Given the description of an element on the screen output the (x, y) to click on. 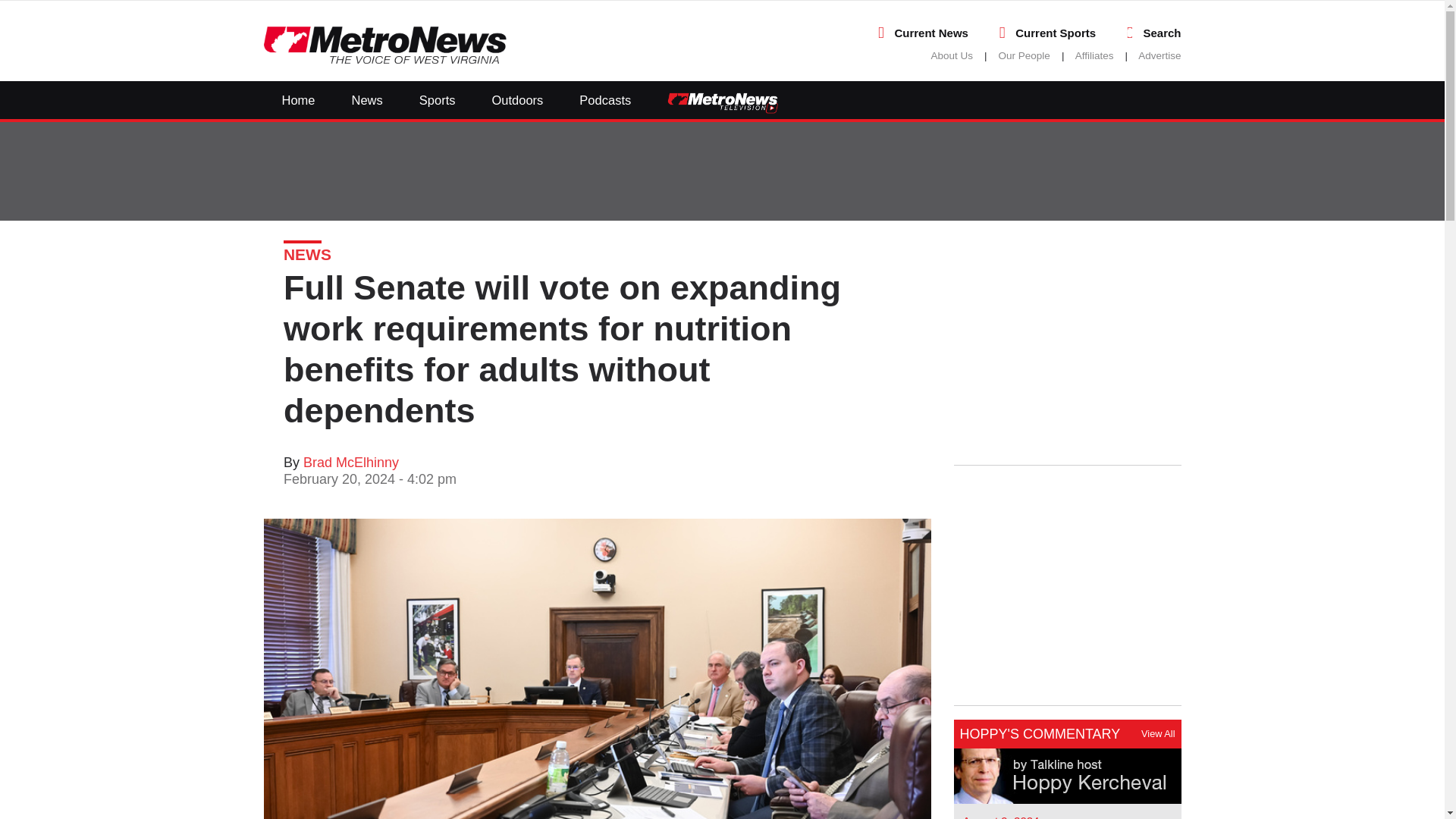
Current Sports (1055, 32)
About Us (952, 55)
Current News (930, 32)
News (367, 99)
Affiliates (1094, 55)
Brad McElhinny (350, 462)
Search (1161, 32)
Outdoors (516, 99)
Advertise (1159, 55)
Home (298, 99)
